Given the description of an element on the screen output the (x, y) to click on. 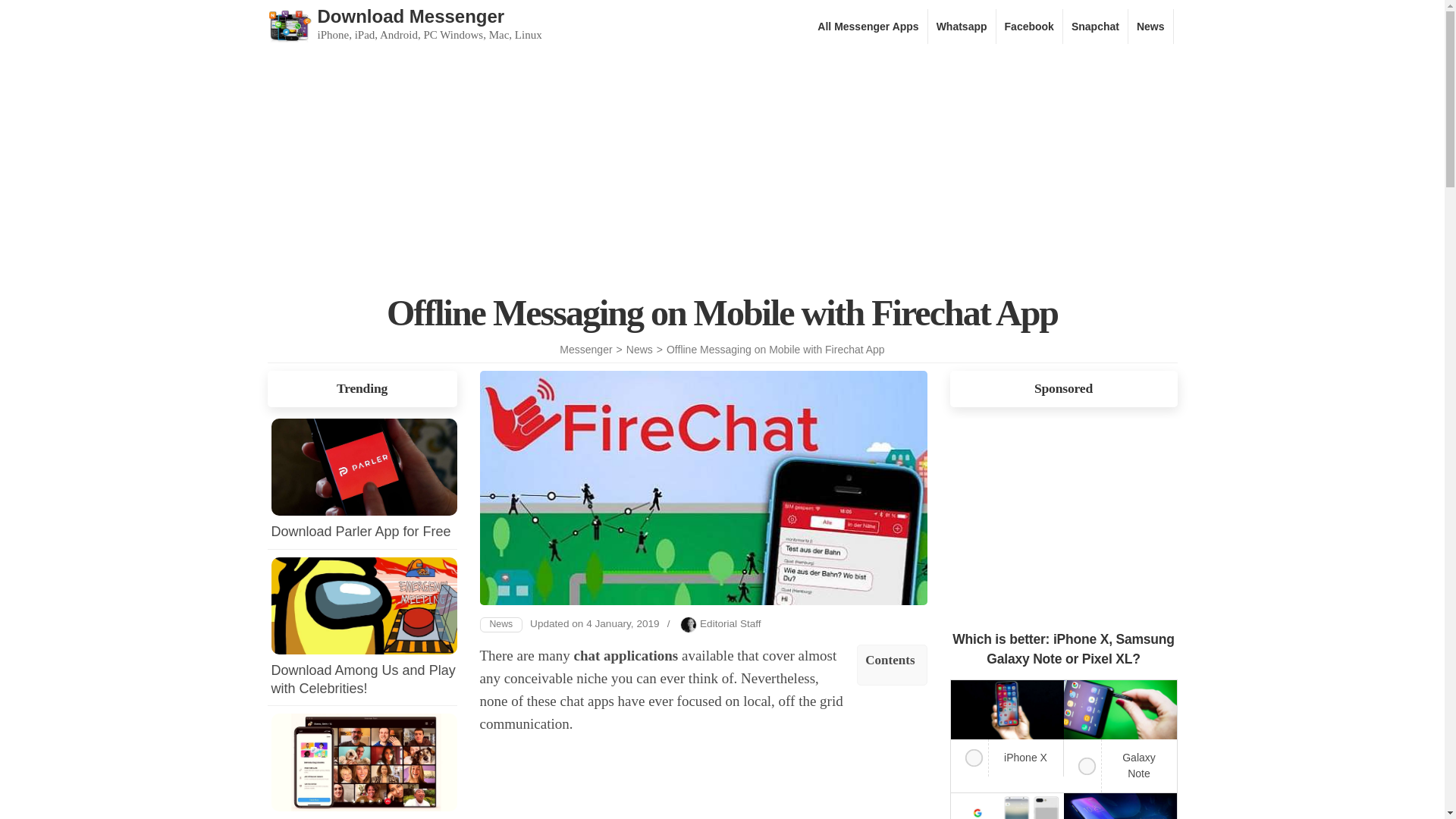
1 (1079, 762)
Whatsapp (962, 26)
All Messenger Apps (867, 26)
4 January, 2019 (622, 623)
News (500, 624)
News (639, 349)
Download Parler App for Free download parler 15 (363, 467)
Download Messenger (410, 15)
Offline Messaging on Mobile with Firechat App firechat app 1 (702, 488)
Facebook (1029, 26)
Offline Messaging on Mobile with Firechat App (775, 349)
Editorial Staff (730, 623)
0 (967, 754)
News (1150, 26)
